Given the description of an element on the screen output the (x, y) to click on. 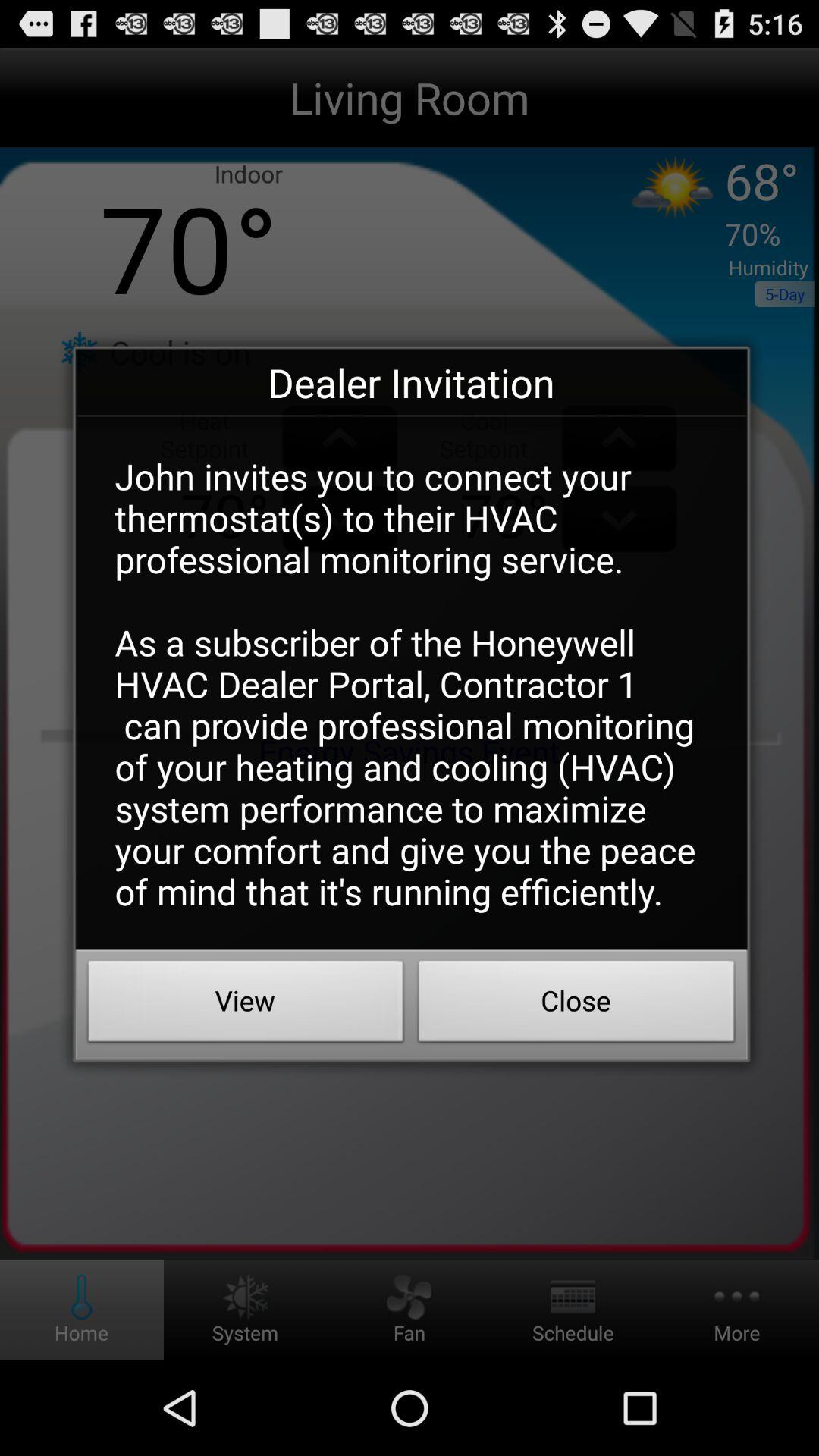
click the view item (245, 1005)
